Given the description of an element on the screen output the (x, y) to click on. 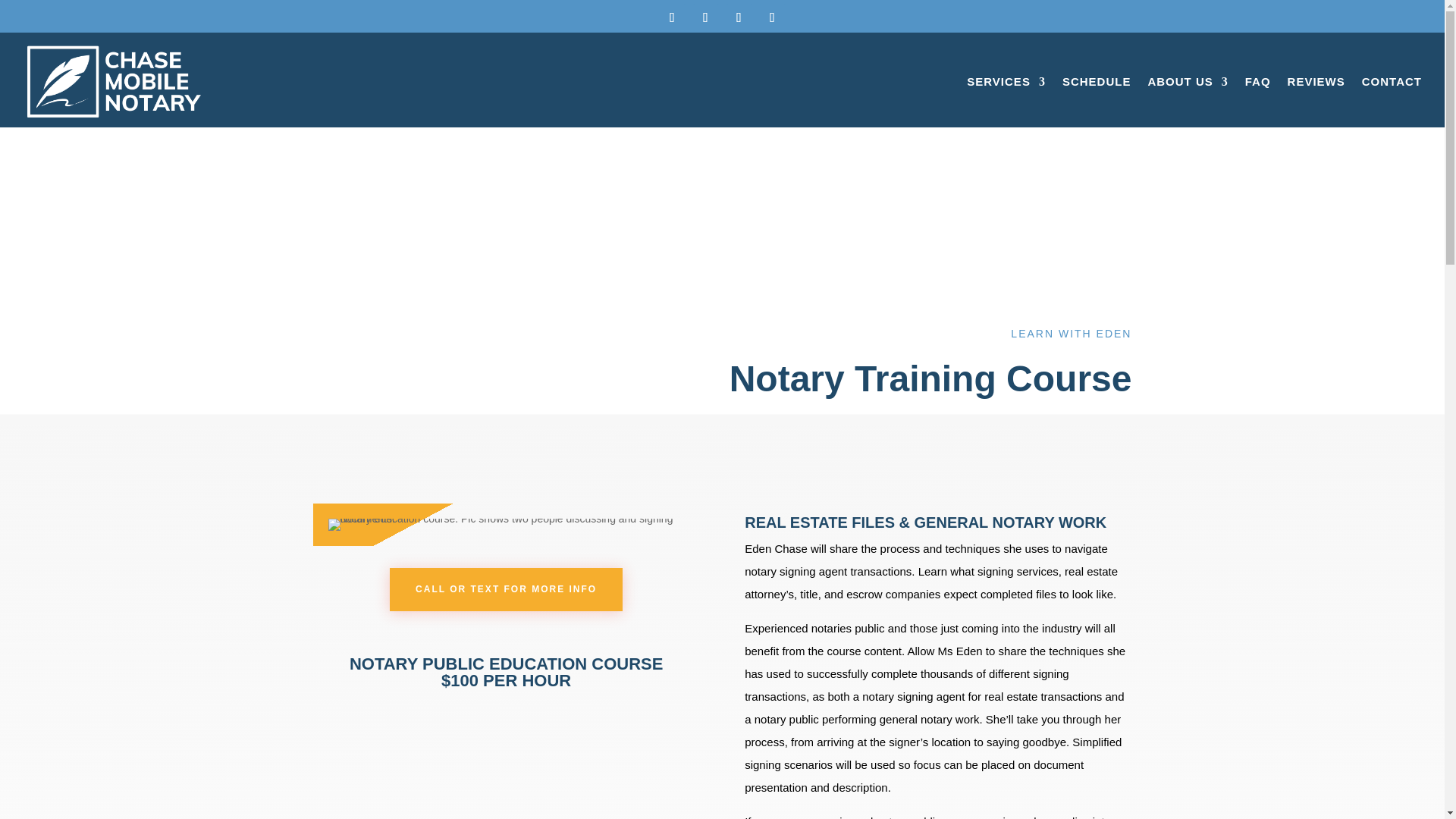
SERVICES (1005, 81)
CALL OR TEXT FOR MORE INFO (506, 589)
ABOUT US (1187, 81)
Follow on LinkedIn (772, 17)
Follow on Facebook (671, 17)
Follow on Instagram (738, 17)
Follow on X (705, 17)
